Given the description of an element on the screen output the (x, y) to click on. 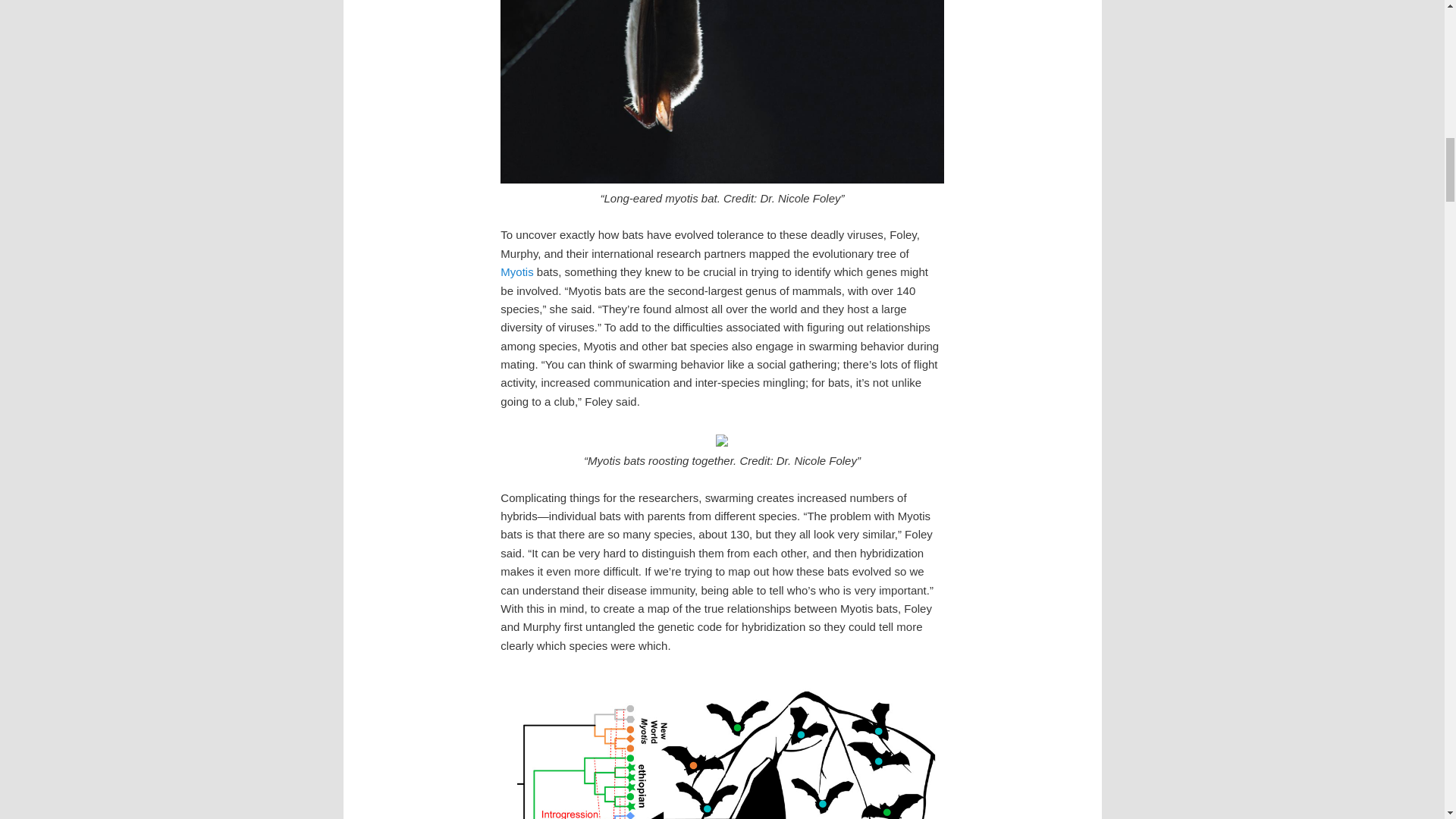
Myotis (516, 271)
